Given the description of an element on the screen output the (x, y) to click on. 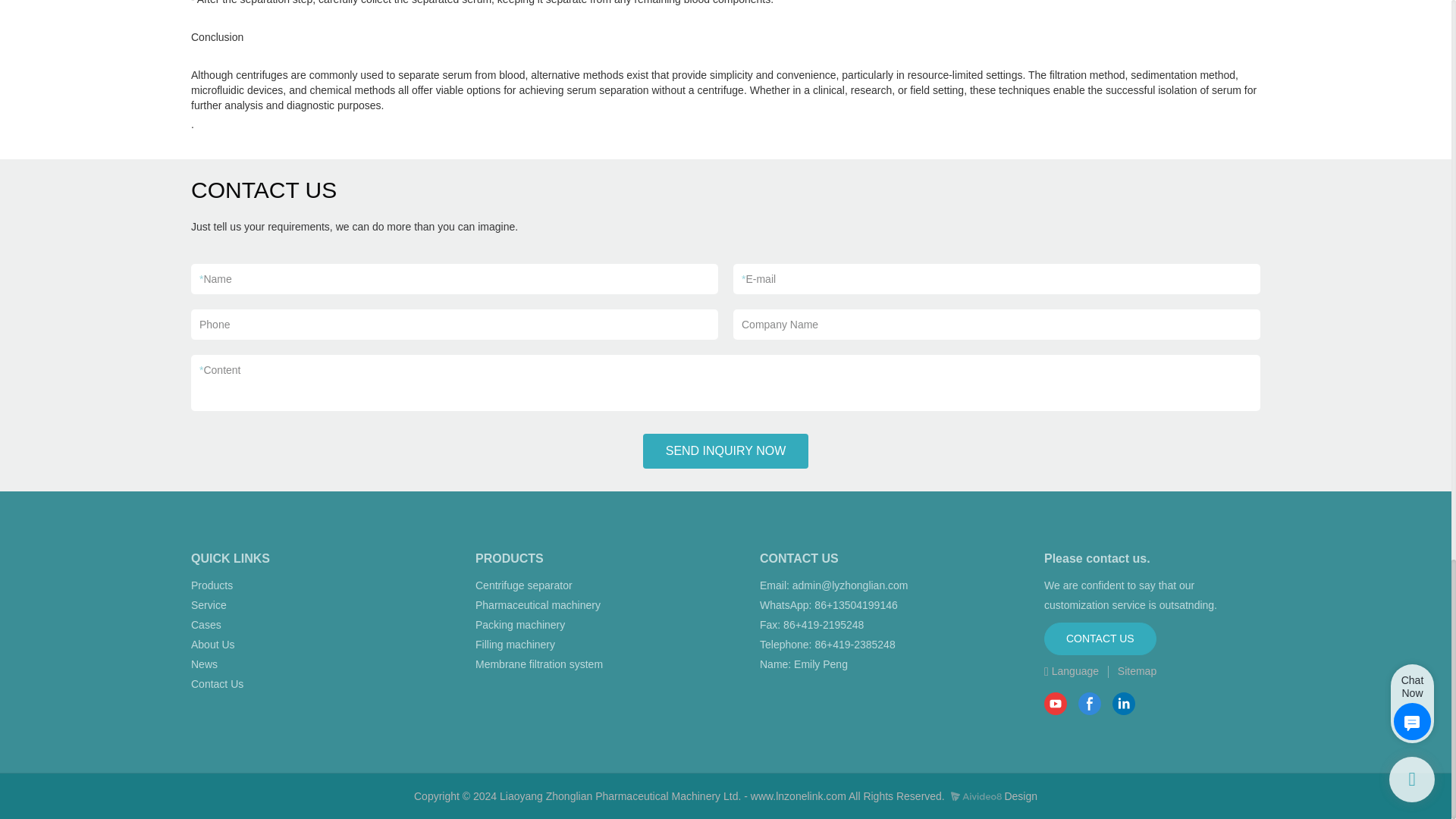
youtube (1055, 703)
